Given the description of an element on the screen output the (x, y) to click on. 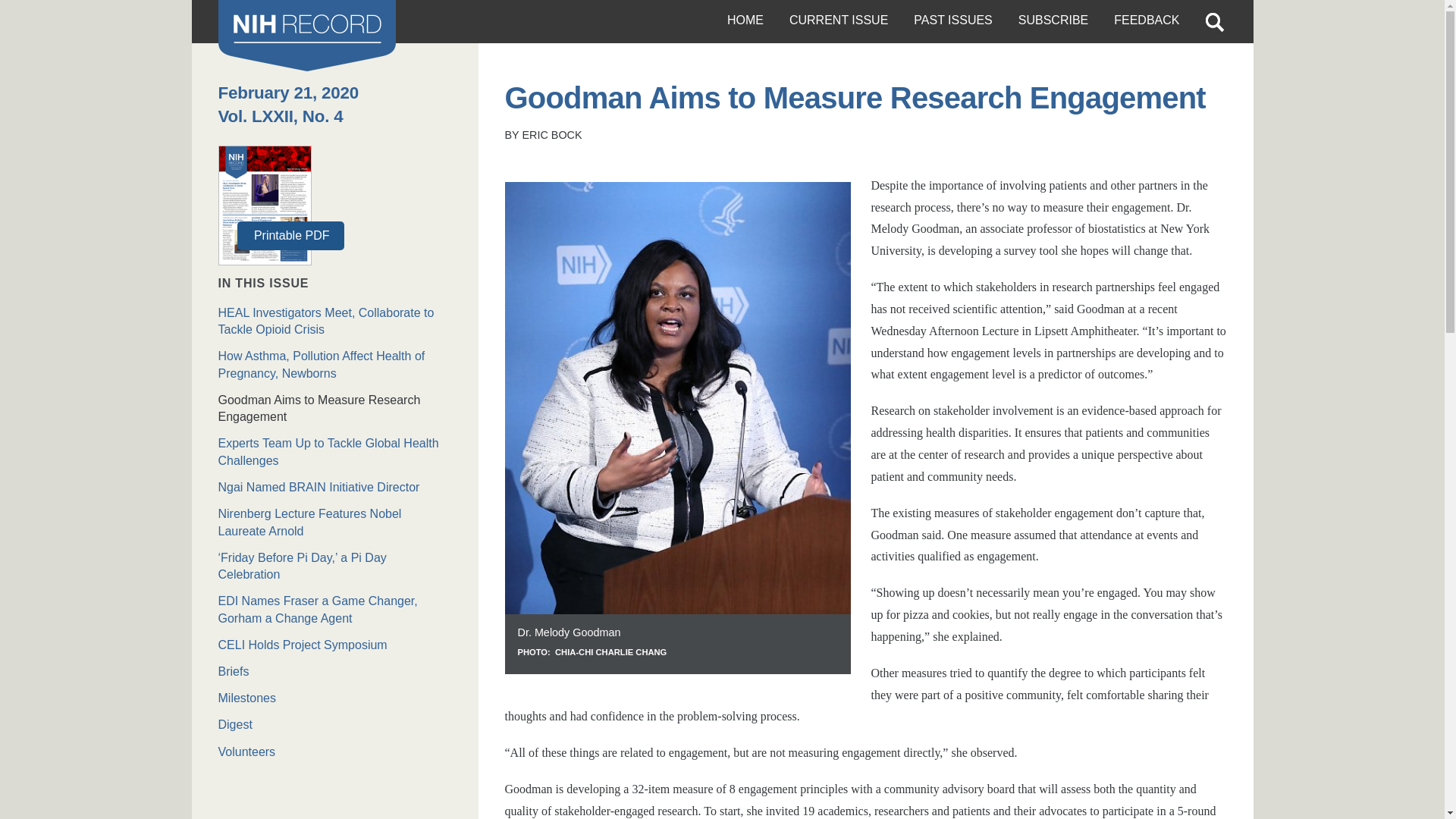
Digest (334, 724)
CELI Holds Project Symposium (334, 645)
How Asthma, Pollution Affect Health of Pregnancy, Newborns (334, 365)
Volunteers (334, 751)
February 21, 2020 (288, 92)
CURRENT ISSUE (838, 21)
PAST ISSUES (952, 21)
HOME (745, 21)
Briefs (334, 671)
EDI Names Fraser a Game Changer, Gorham a Change Agent (334, 609)
